Given the description of an element on the screen output the (x, y) to click on. 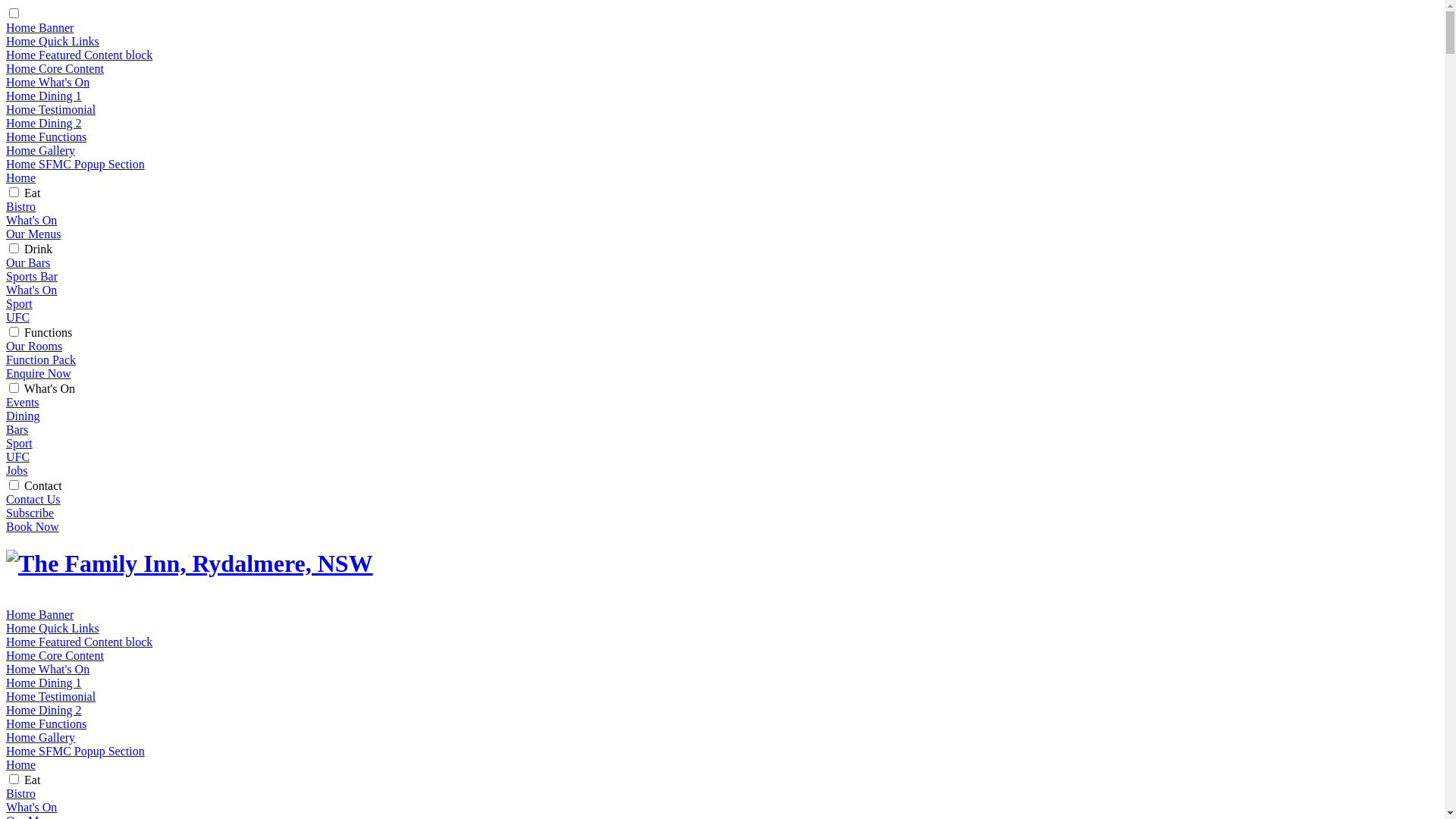
What's On Element type: text (31, 289)
Home Functions Element type: text (46, 136)
Home Testimonial Element type: text (50, 696)
Sport Element type: text (19, 303)
Home Featured Content block Element type: text (79, 641)
Enquire Now Element type: text (38, 373)
Contact Us Element type: text (33, 498)
Home Quick Links Element type: text (52, 627)
Home Banner Element type: text (39, 27)
Home Banner Element type: text (39, 614)
Bistro Element type: text (20, 206)
Home Dining 2 Element type: text (43, 709)
Home Element type: text (20, 764)
Home Dining 2 Element type: text (43, 122)
Our Rooms Element type: text (34, 345)
Home Gallery Element type: text (40, 150)
Home Testimonial Element type: text (50, 109)
Contact Element type: text (43, 485)
What's On Element type: text (31, 806)
Sports Bar Element type: text (31, 275)
Home Dining 1 Element type: text (43, 95)
UFC Element type: text (17, 456)
Bistro Element type: text (20, 793)
What's On Element type: text (49, 388)
Our Menus Element type: text (33, 233)
Book Now Element type: text (32, 526)
Home Featured Content block Element type: text (79, 54)
Home What's On Element type: text (47, 81)
Home Gallery Element type: text (40, 737)
Home Core Content Element type: text (54, 68)
Home Quick Links Element type: text (52, 40)
Eat Element type: text (32, 192)
Home Dining 1 Element type: text (43, 682)
Home SFMC Popup Section Element type: text (75, 163)
Events Element type: text (22, 401)
Jobs Element type: text (16, 470)
Subscribe Element type: text (29, 512)
UFC Element type: text (17, 316)
Home Functions Element type: text (46, 723)
Home Element type: text (20, 177)
What's On Element type: text (31, 219)
Eat Element type: text (32, 779)
Dining Element type: text (22, 415)
Function Pack Element type: text (40, 359)
Our Bars Element type: text (28, 262)
Bars Element type: text (17, 429)
Sport Element type: text (19, 442)
Home SFMC Popup Section Element type: text (75, 750)
Home What's On Element type: text (47, 668)
Drink Element type: text (38, 248)
Home Core Content Element type: text (54, 655)
Functions Element type: text (48, 332)
